Given the description of an element on the screen output the (x, y) to click on. 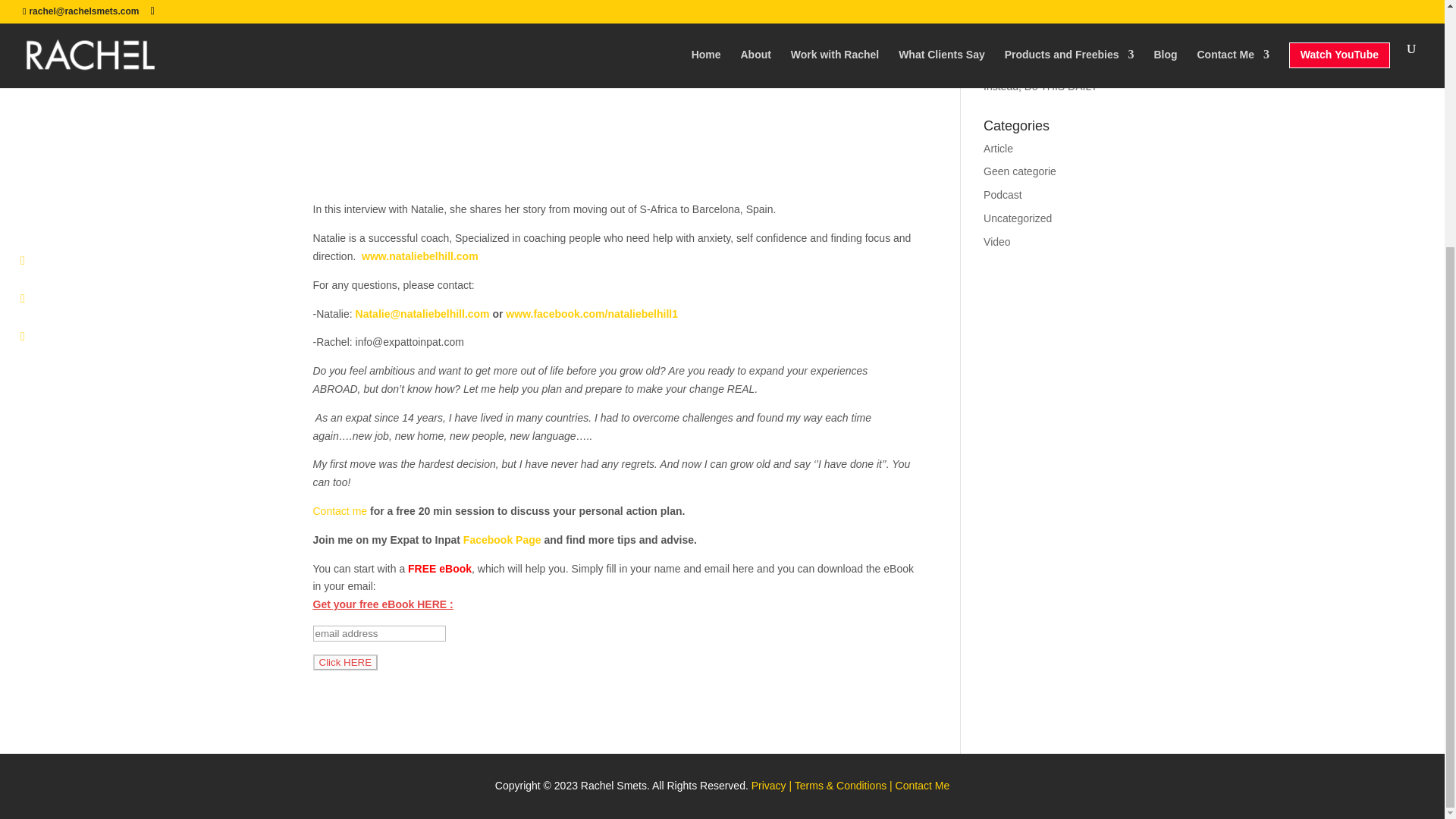
www.nataliebelhill.com (420, 256)
Click HERE (345, 662)
Facebook Page (502, 539)
Contact me (339, 510)
STOP QUIET QUITTING. Instead, Do THIS DAILY (1043, 77)
Article (998, 148)
Uncategorized (1017, 218)
Geen categorie (1020, 171)
Podcast (1003, 194)
Click HERE (345, 662)
